Given the description of an element on the screen output the (x, y) to click on. 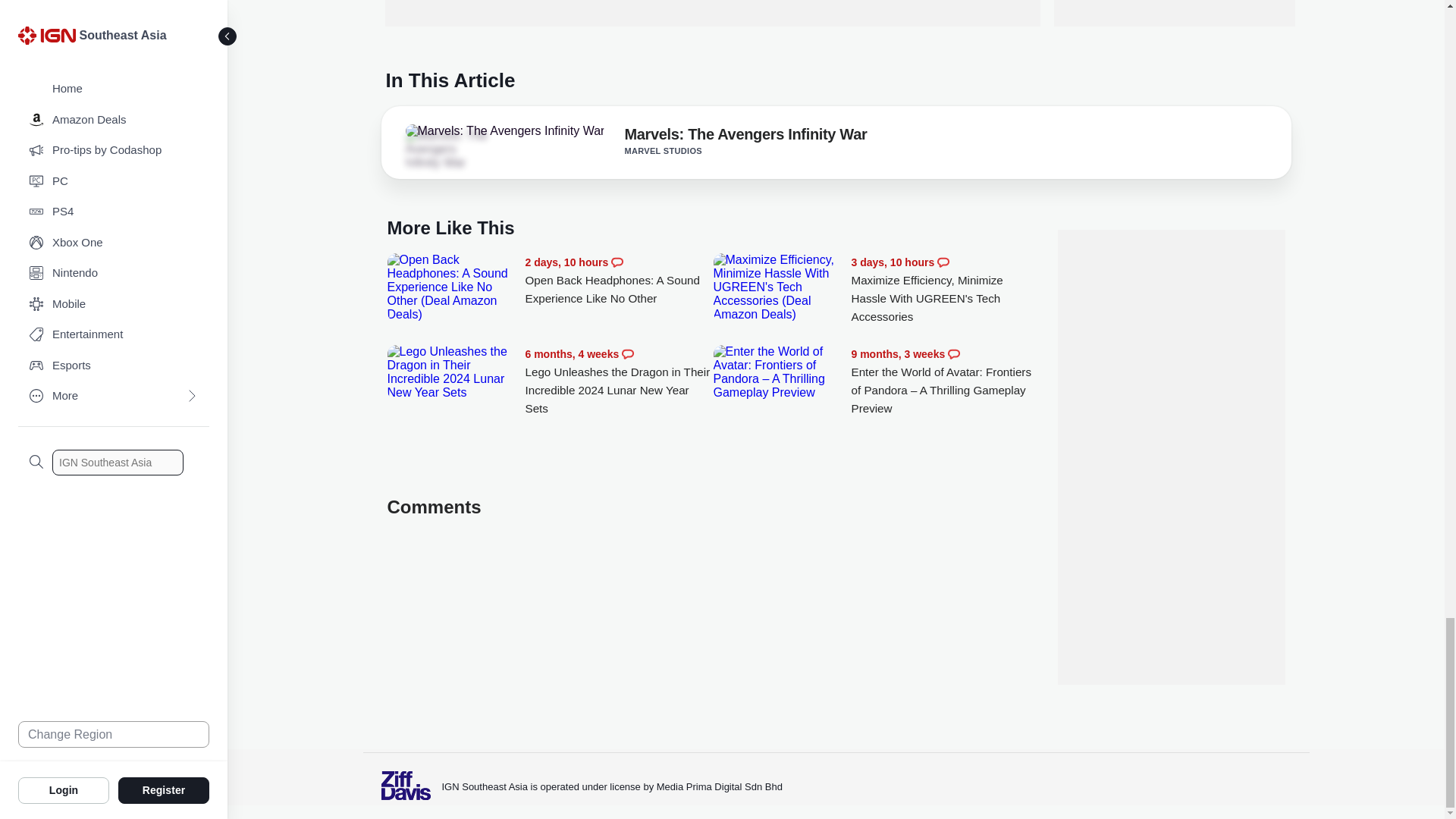
Marvels: The Avengers Infinity War (745, 137)
Open Back Headphones: A Sound Experience Like No Other (451, 287)
Comments (627, 354)
Open Back Headphones: A Sound Experience Like No Other (618, 280)
Marvels: The Avengers Infinity War (448, 148)
Marvels: The Avengers Infinity War (504, 131)
Comments (943, 262)
Comments (617, 262)
